Given the description of an element on the screen output the (x, y) to click on. 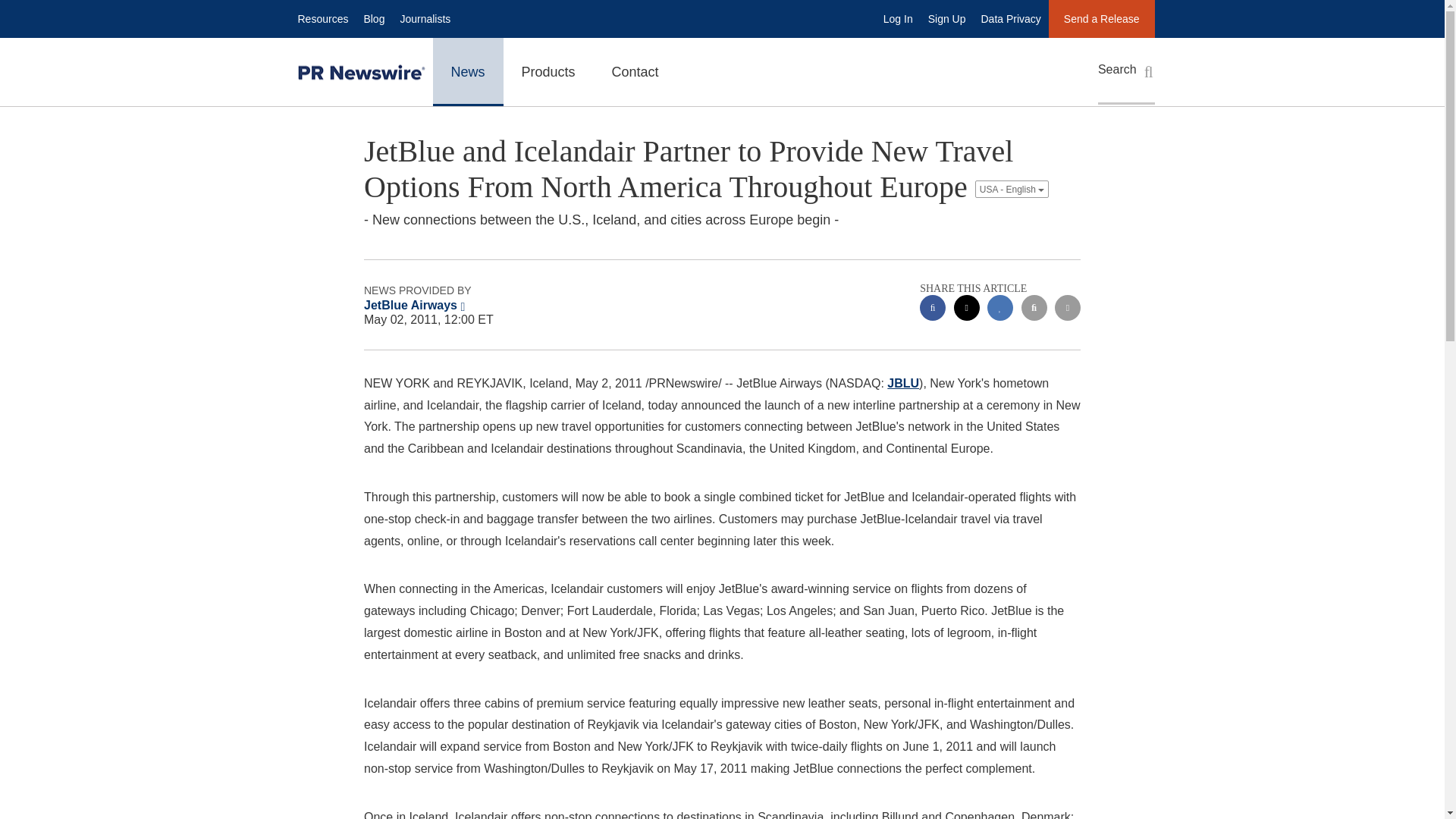
Products (548, 71)
Journalists (424, 18)
Log In (898, 18)
News (467, 71)
Blog (373, 18)
Contact (635, 71)
Send a Release (1101, 18)
Sign Up (947, 18)
Data Privacy (1011, 18)
